Given the description of an element on the screen output the (x, y) to click on. 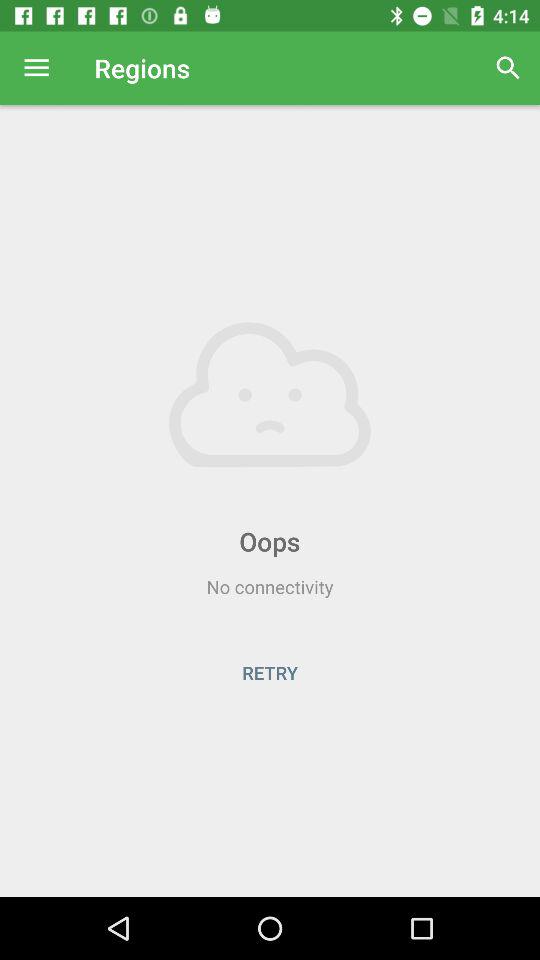
click the item next to the regions item (508, 67)
